Given the description of an element on the screen output the (x, y) to click on. 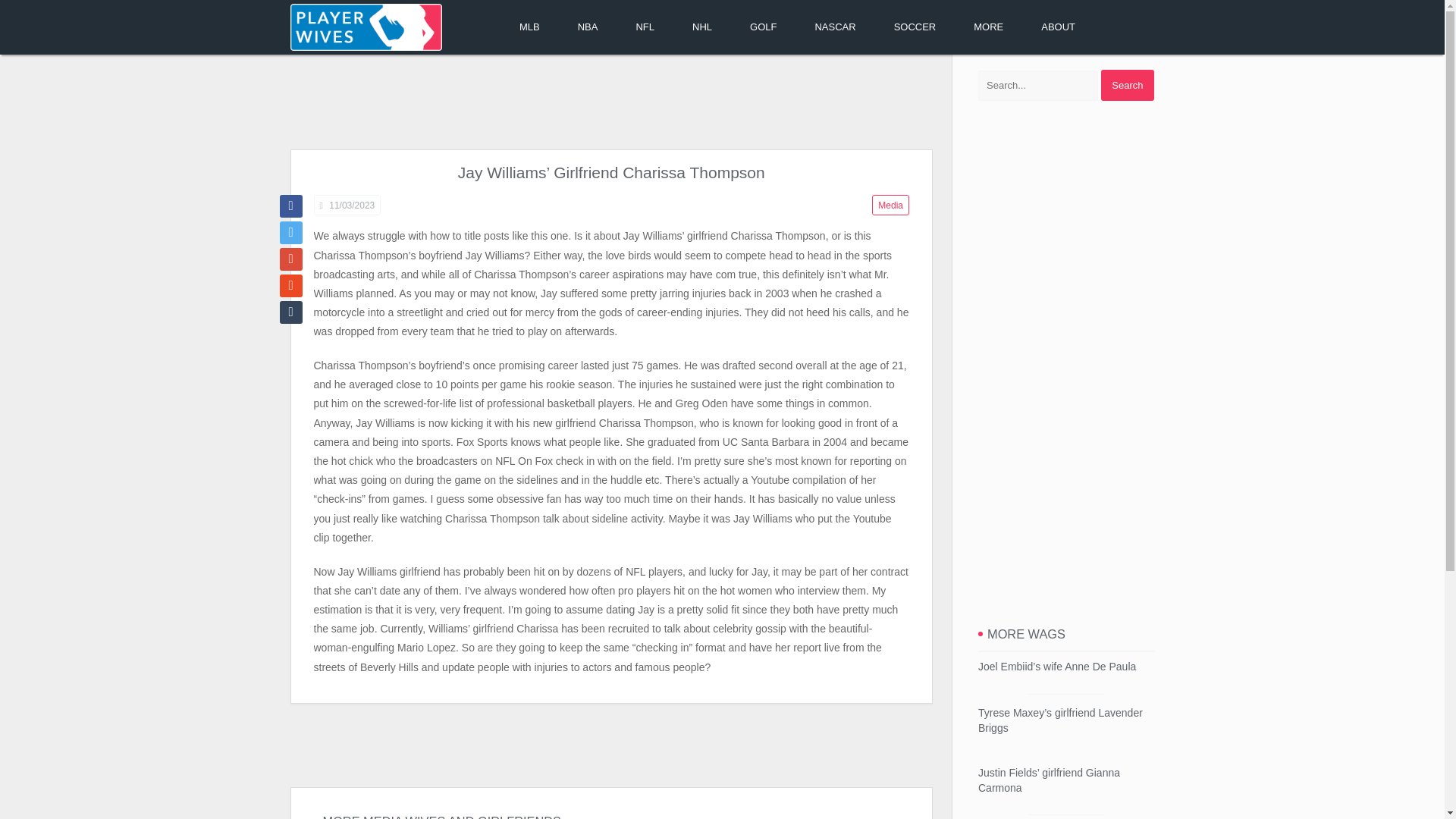
NFL Wives (643, 27)
GOLF (762, 27)
Facebook (290, 205)
Golf Wives (762, 27)
search (1127, 84)
NASCAR Wives (834, 27)
Advertisement (610, 103)
MLB (529, 27)
Soccer Wives (915, 27)
SOCCER (915, 27)
NBA (588, 27)
NHL Wives (701, 27)
MORE (988, 27)
Media (889, 204)
More Wives (988, 27)
